Given the description of an element on the screen output the (x, y) to click on. 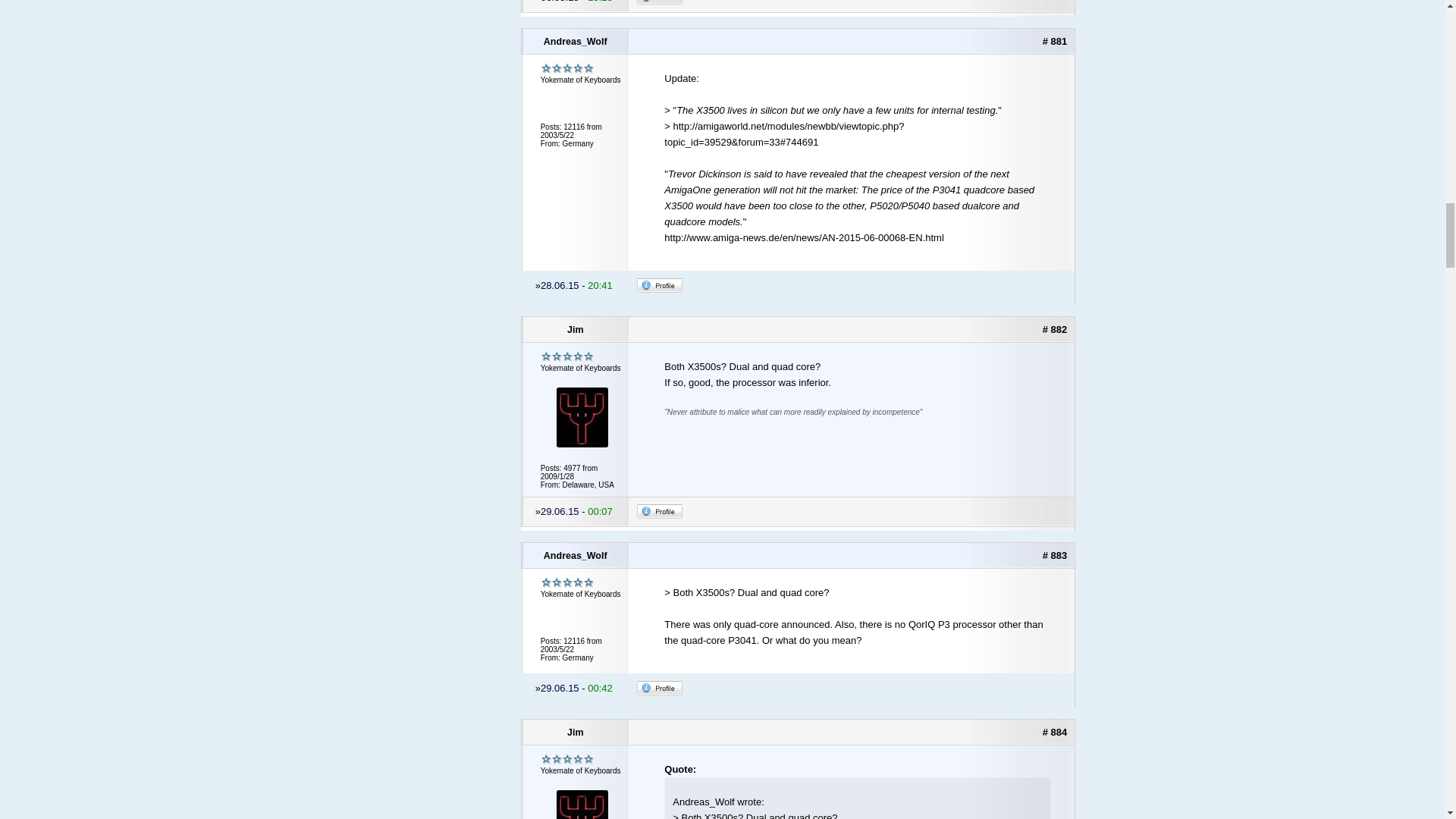
Yokemate of Keyboards (567, 356)
Show alone this post... (1054, 731)
Yokemate of Keyboards (567, 68)
Show alone this post... (1054, 328)
Yokemate of Keyboards (567, 582)
Yokemate of Keyboards (567, 758)
Show alone this post... (1054, 41)
Show alone this post... (1054, 555)
